Given the description of an element on the screen output the (x, y) to click on. 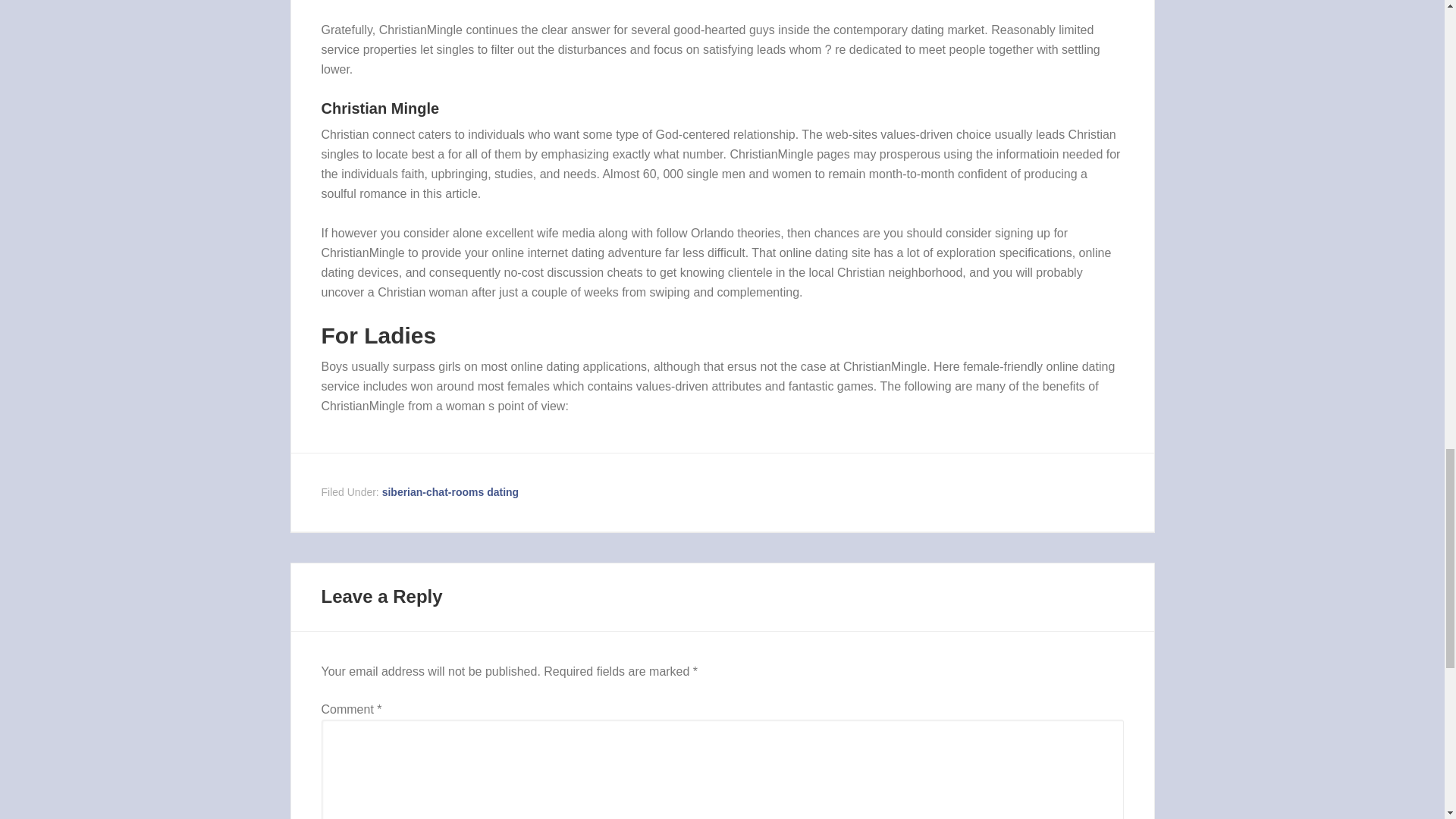
siberian-chat-rooms dating (449, 491)
